Given the description of an element on the screen output the (x, y) to click on. 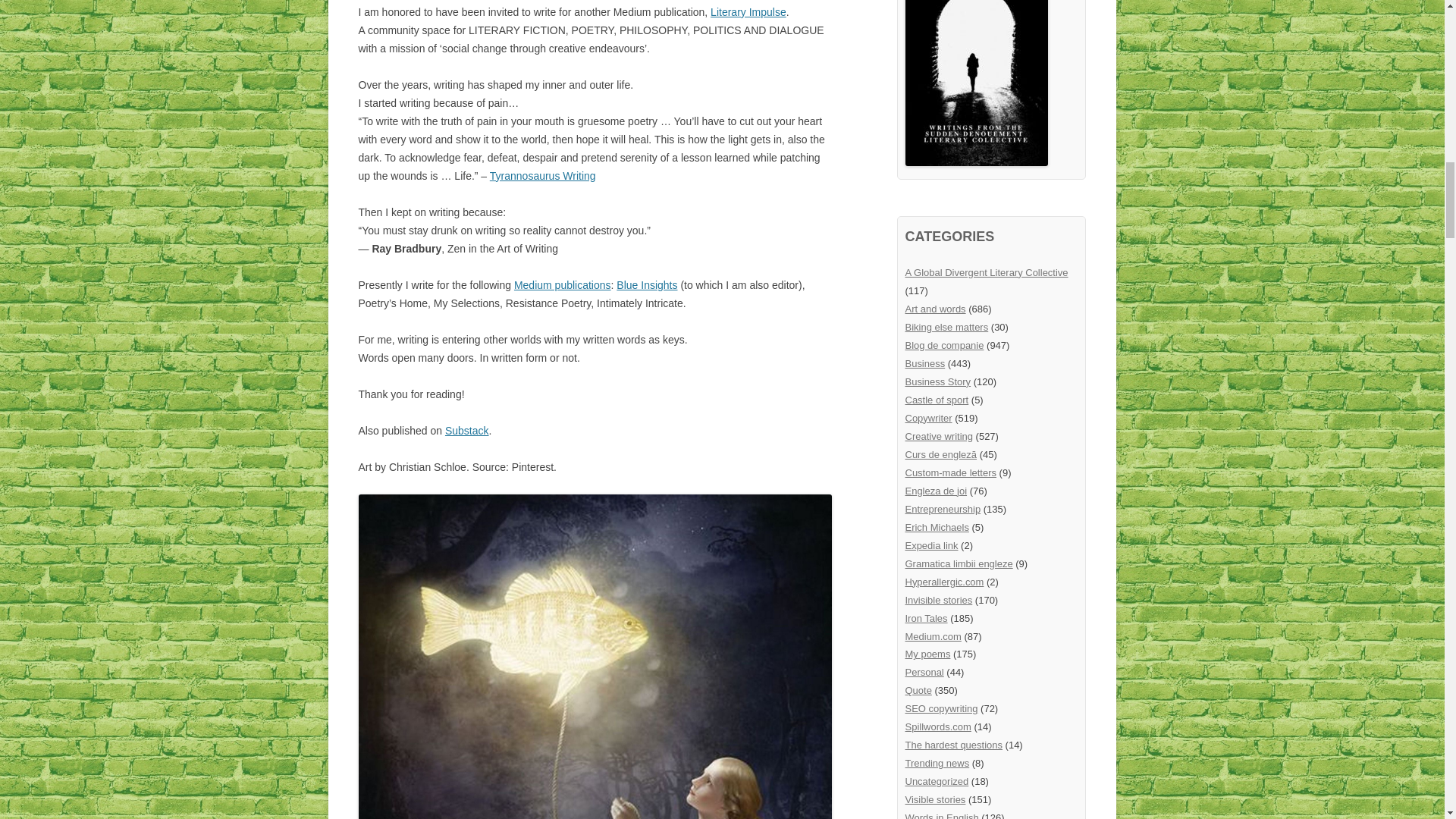
Literary Impulse (748, 11)
Substack (467, 430)
Tyrannosaurus Writing (542, 175)
Medium publications (562, 285)
Blue Insights (646, 285)
